Given the description of an element on the screen output the (x, y) to click on. 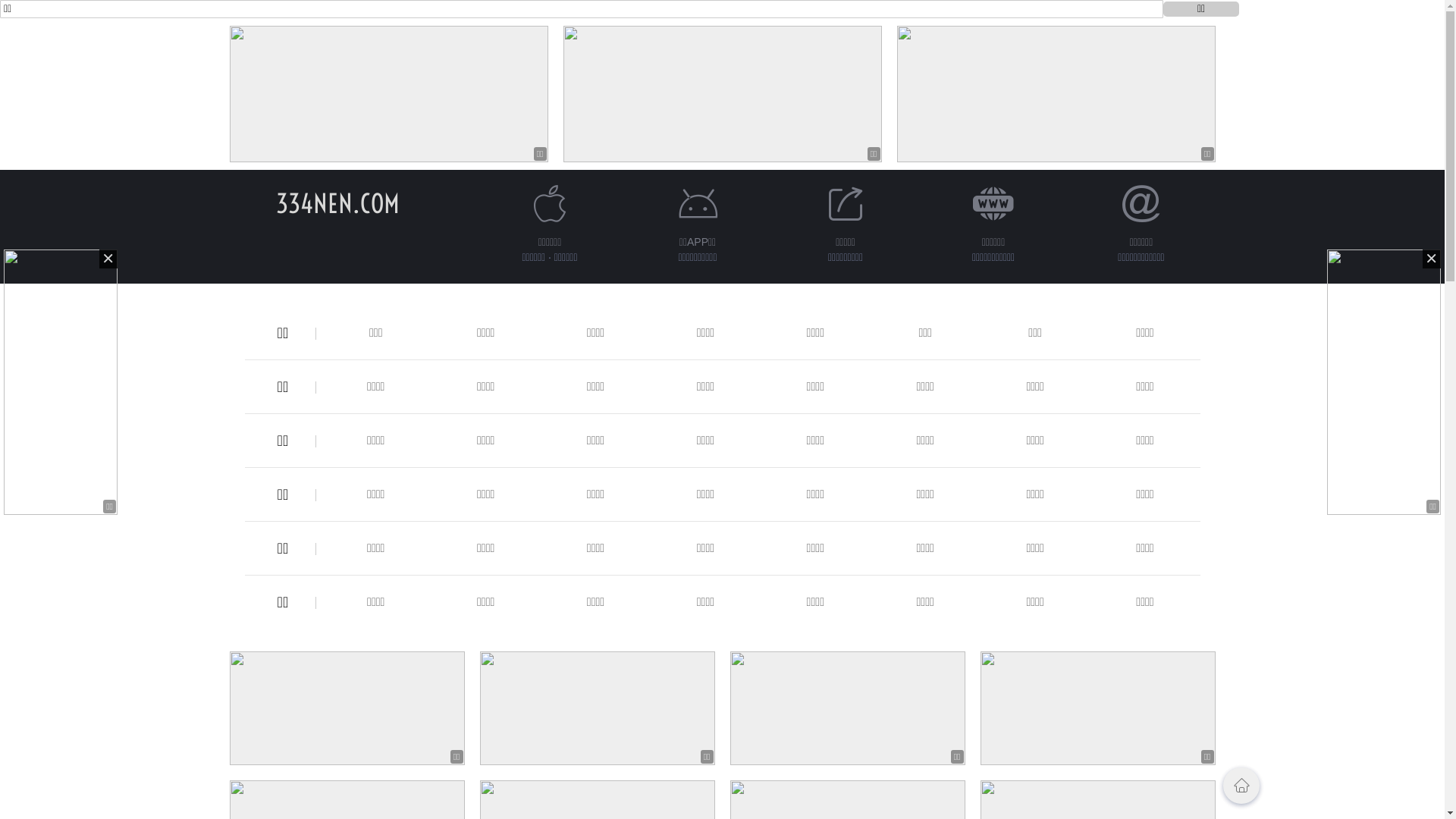
334NEN.COM Element type: text (337, 203)
